Given the description of an element on the screen output the (x, y) to click on. 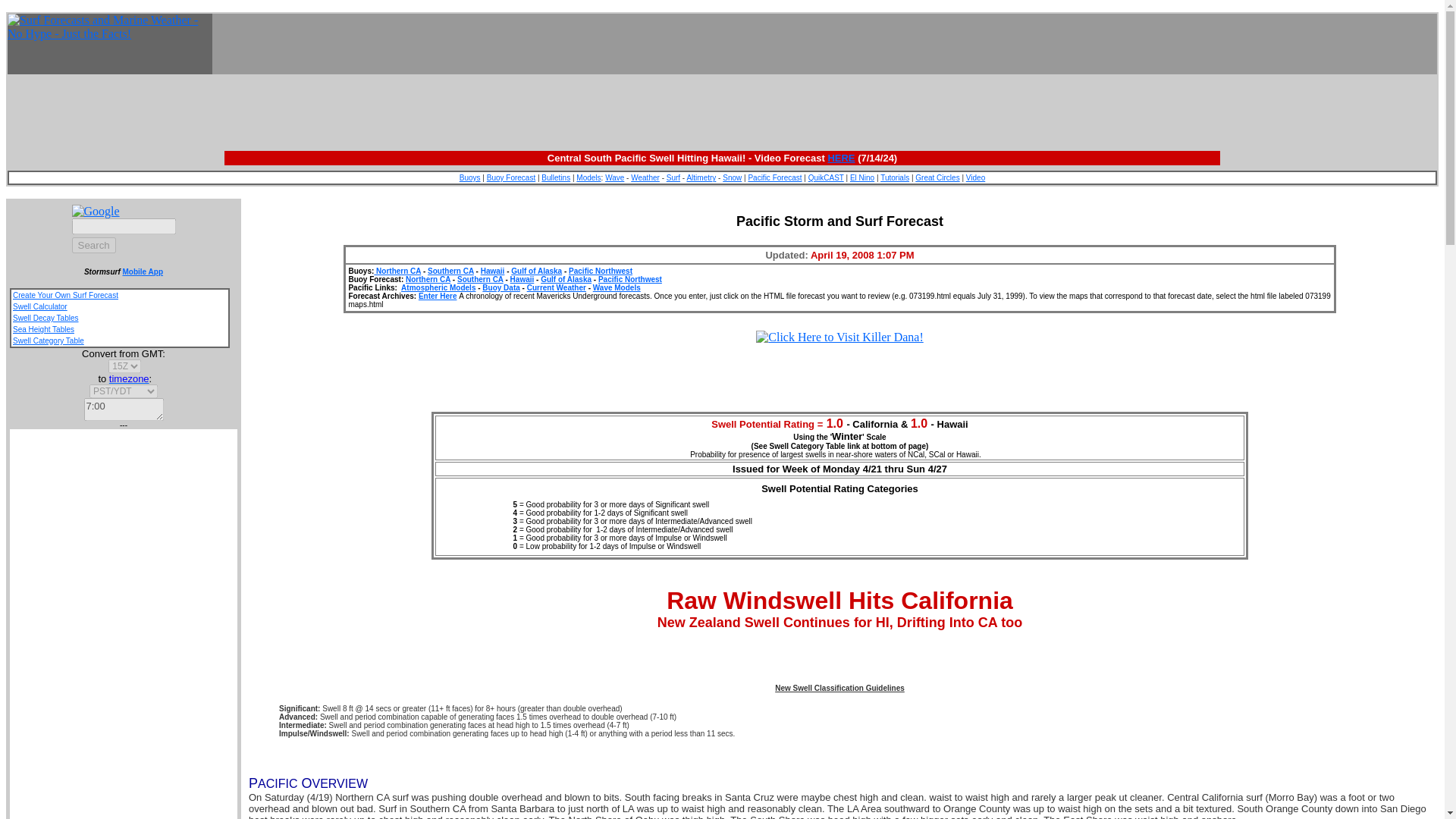
timezone (129, 378)
Video (975, 177)
El Nino (862, 177)
Pacific Northwest (600, 270)
Pacific Northwest (630, 279)
Models (587, 177)
Search (93, 245)
Mobile App (142, 271)
Altimetry (700, 177)
Northern CA (427, 279)
Snow (731, 177)
HERE (840, 157)
Hawaii (522, 279)
Buoys (470, 177)
Wave Models (616, 287)
